Given the description of an element on the screen output the (x, y) to click on. 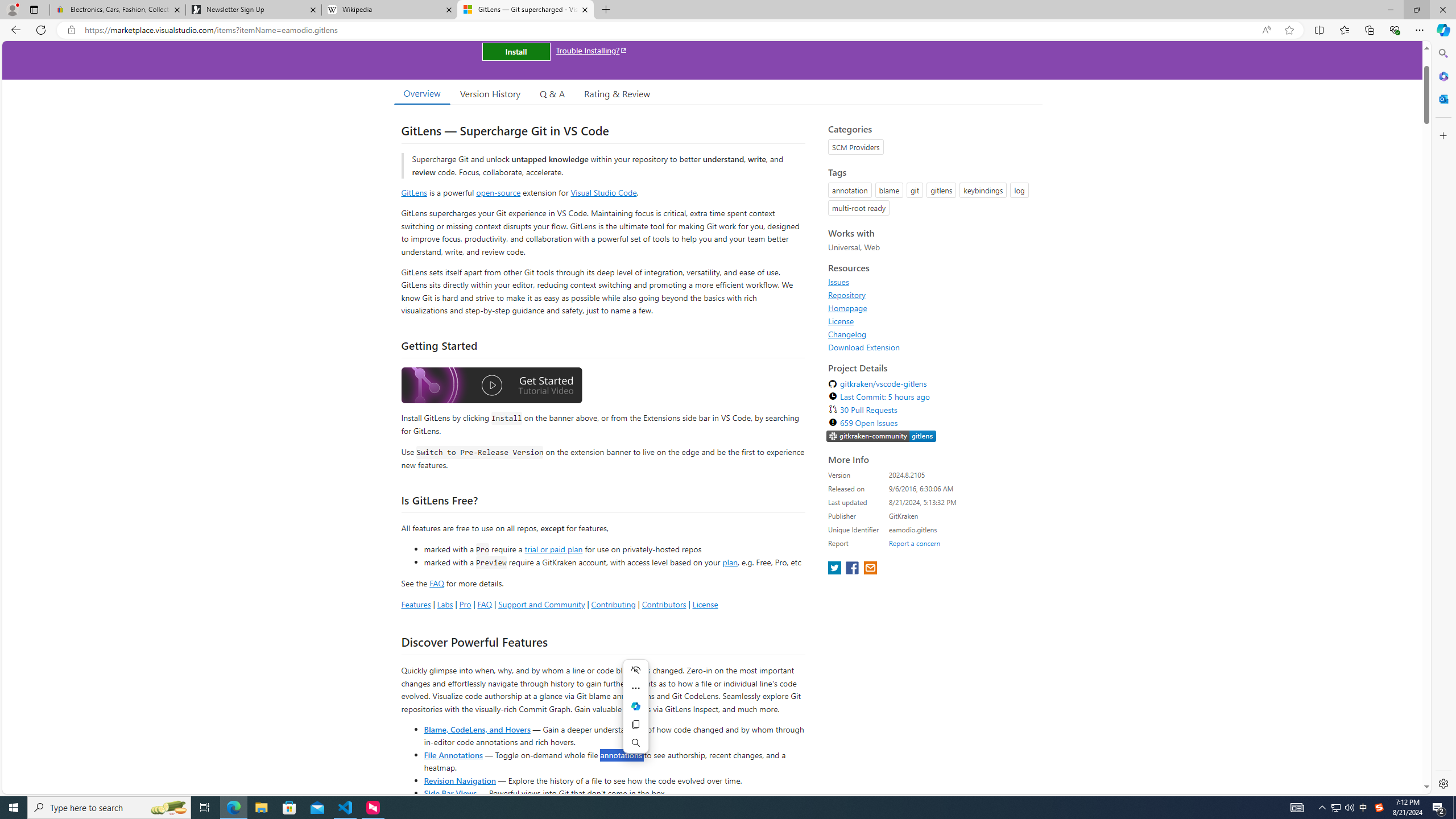
Watch the GitLens Getting Started video (491, 385)
Ask Copilot (635, 705)
Features (415, 603)
License (840, 320)
Blame, CodeLens, and Hovers (476, 728)
Hide menu (635, 669)
